Given the description of an element on the screen output the (x, y) to click on. 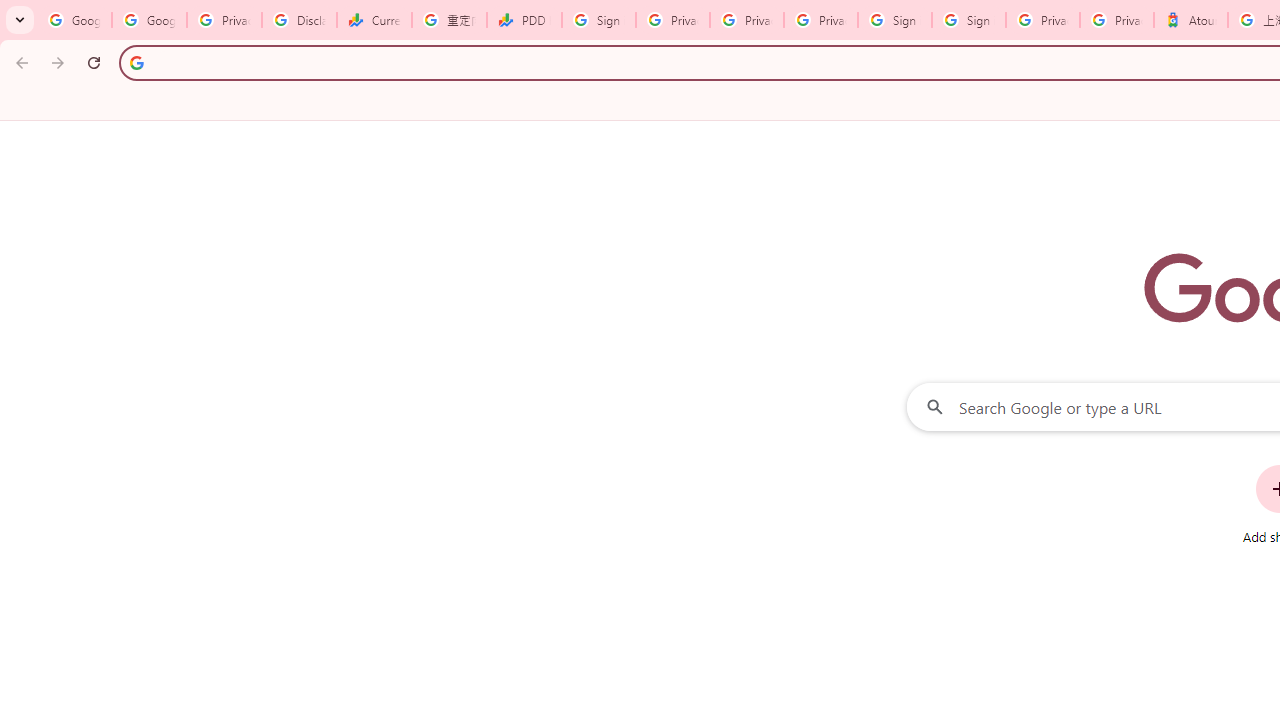
Sign in - Google Accounts (894, 20)
Google Workspace Admin Community (74, 20)
Sign in - Google Accounts (968, 20)
PDD Holdings Inc - ADR (PDD) Price & News - Google Finance (523, 20)
